Given the description of an element on the screen output the (x, y) to click on. 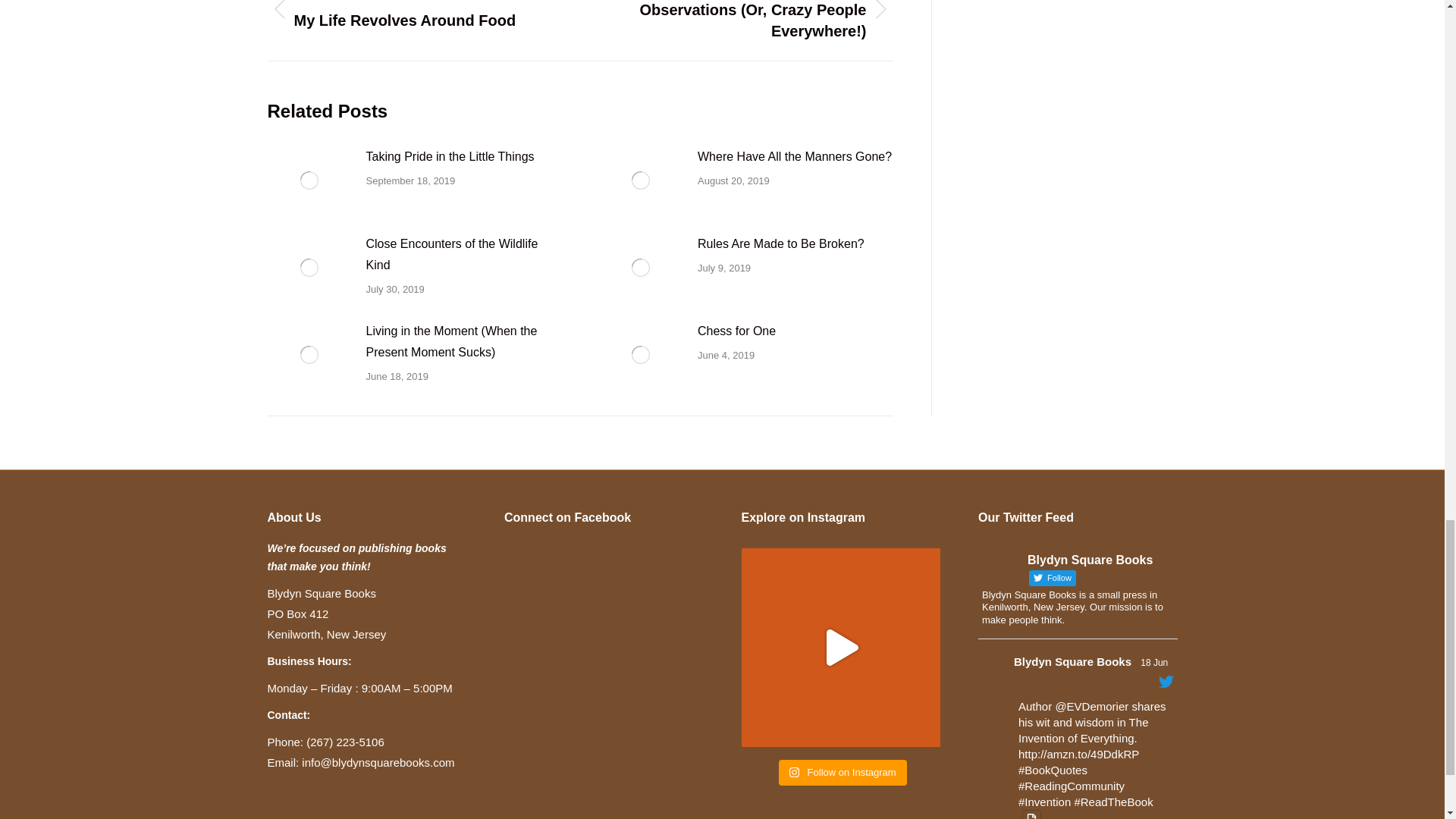
Likebox Iframe (603, 640)
